Given the description of an element on the screen output the (x, y) to click on. 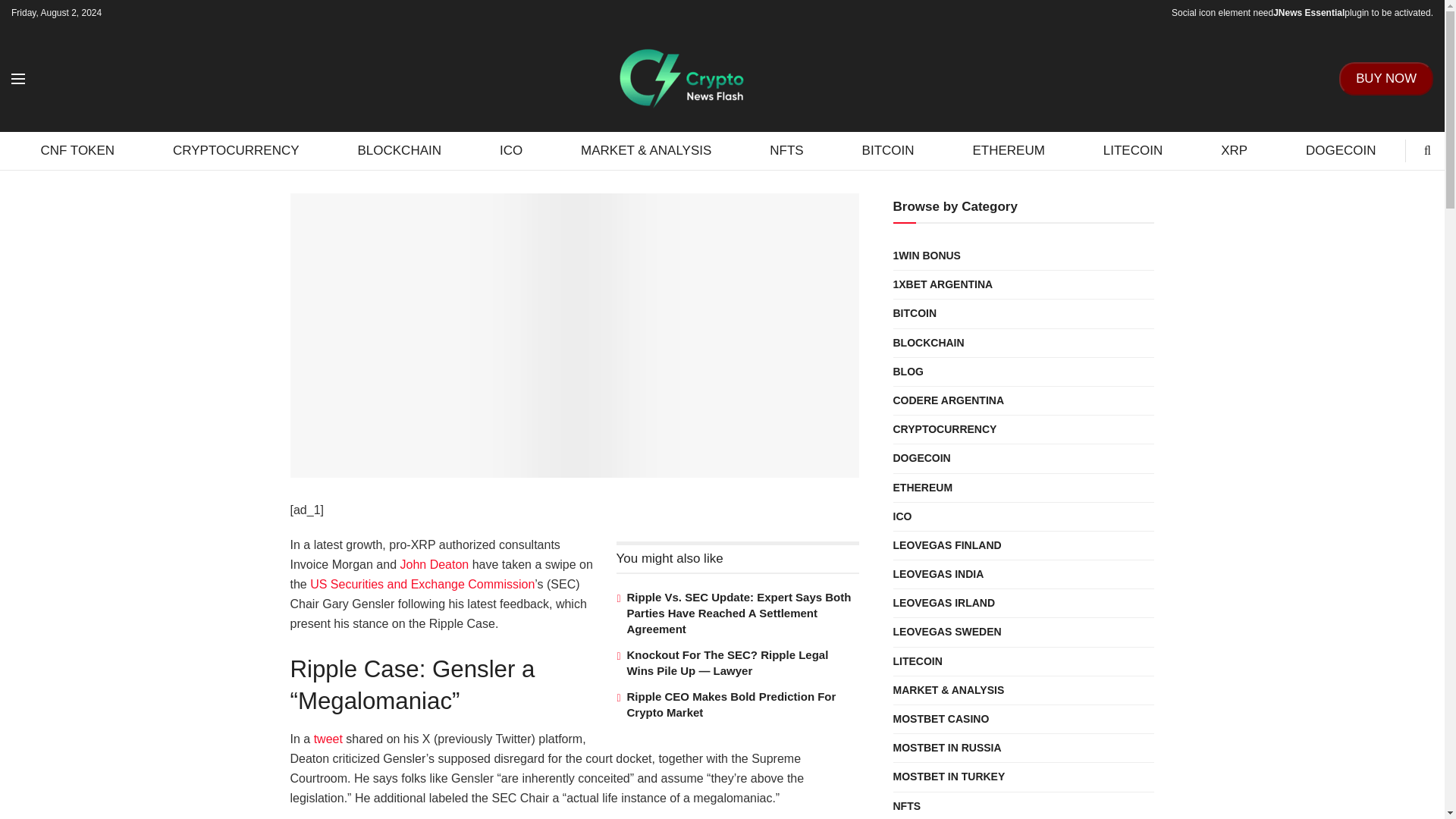
DOGECOIN (1340, 150)
BLOCKCHAIN (399, 150)
tweet (328, 738)
US Securities and Exchange Commission (422, 584)
John Deaton (433, 563)
CRYPTOCURRENCY (236, 150)
XRP (1234, 150)
BUY NOW (1385, 78)
Ripple CEO Makes Bold Prediction For Crypto Market (730, 704)
BUY NOW (1385, 78)
LITECOIN (1132, 150)
ICO (510, 150)
ETHEREUM (1008, 150)
NFTS (786, 150)
